Given the description of an element on the screen output the (x, y) to click on. 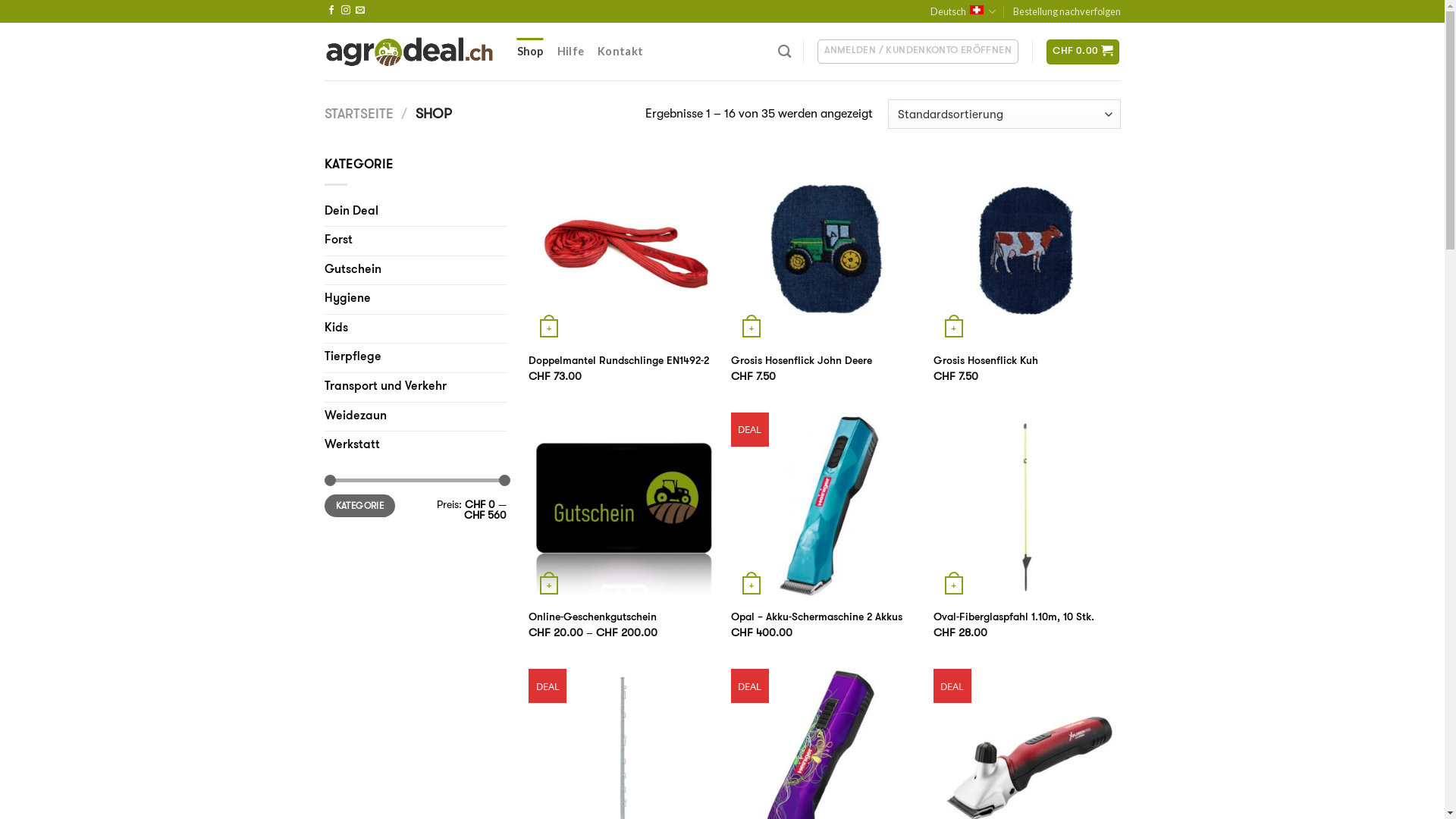
Gutschein Element type: text (415, 270)
STARTSEITE Element type: text (358, 114)
DEAL Element type: text (824, 505)
KATEGORIE Element type: text (359, 505)
Hilfe Element type: text (570, 51)
Werkstatt Element type: text (415, 445)
Doppelmantel Rundschlinge EN1492-2 Element type: text (618, 361)
Kontakt Element type: text (620, 51)
CHF 0.00 Element type: text (1082, 51)
Online-Geschenkgutschein Element type: text (592, 618)
Shop Element type: text (530, 51)
Tierpflege Element type: text (415, 357)
Transport und Verkehr Element type: text (415, 387)
Grosis Hosenflick Kuh Element type: text (985, 361)
Bestellung nachverfolgen Element type: text (1066, 11)
Hygiene Element type: text (415, 299)
Forst Element type: text (415, 240)
Dein Deal Element type: text (415, 211)
Grosis Hosenflick John Deere Element type: text (801, 361)
Kids Element type: text (415, 328)
Deutsch Element type: text (962, 11)
Weidezaun Element type: text (415, 416)
Oval-Fiberglaspfahl 1.10m, 10 Stk. Element type: text (1013, 618)
